Given the description of an element on the screen output the (x, y) to click on. 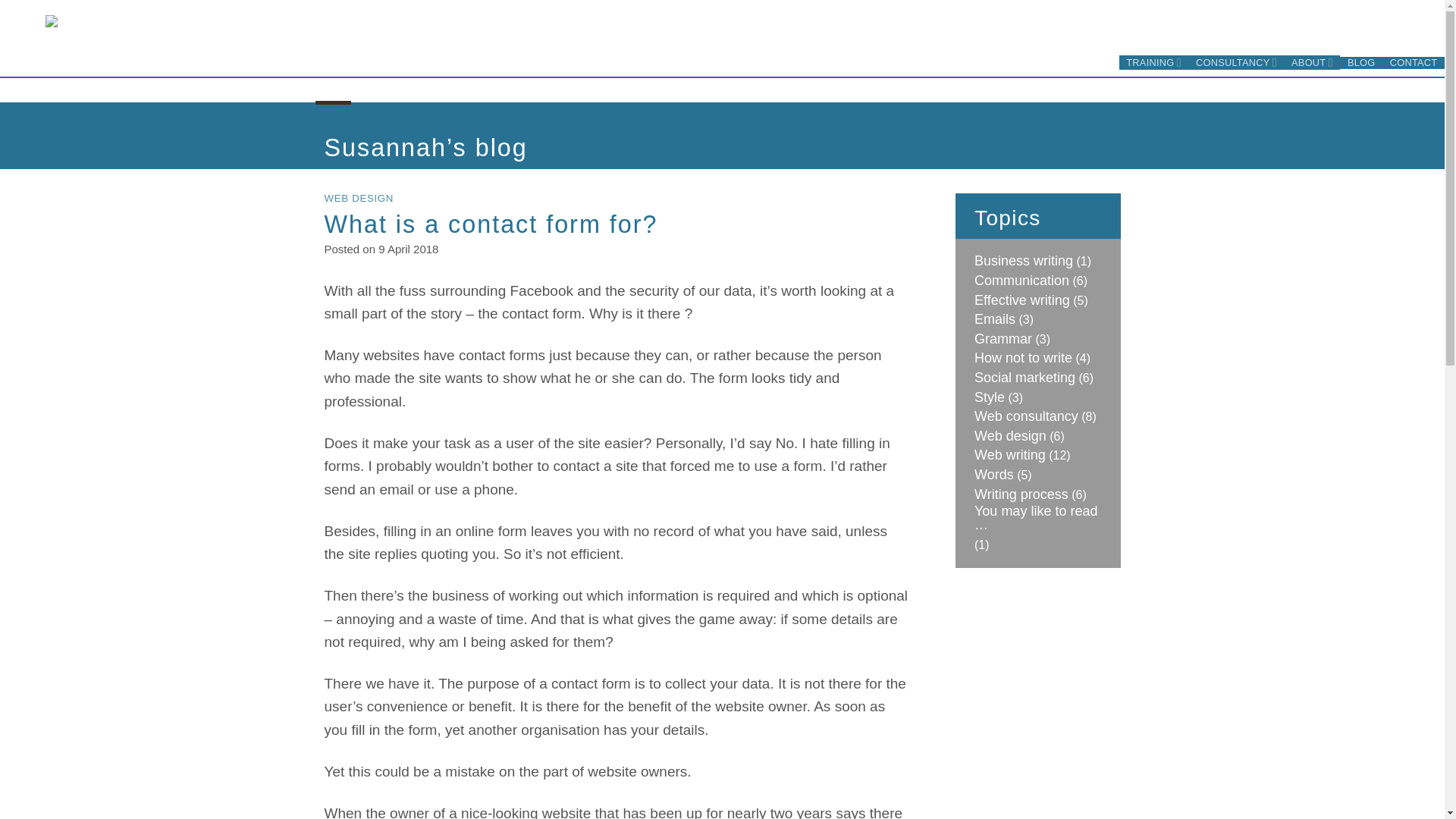
Style (989, 397)
WEB DESIGN (359, 197)
Social marketing (1024, 377)
How not to write (1022, 357)
Business writing (1023, 260)
CONSULTANCY (1236, 62)
9 April 2018 (408, 248)
Grammar (1003, 338)
BLOG (1360, 62)
Effective writing (1022, 300)
TRAINING (1154, 62)
Communication (1021, 280)
Susannah Ross - Susannah Ross (168, 66)
Emails (994, 318)
ABOUT (1311, 62)
